Given the description of an element on the screen output the (x, y) to click on. 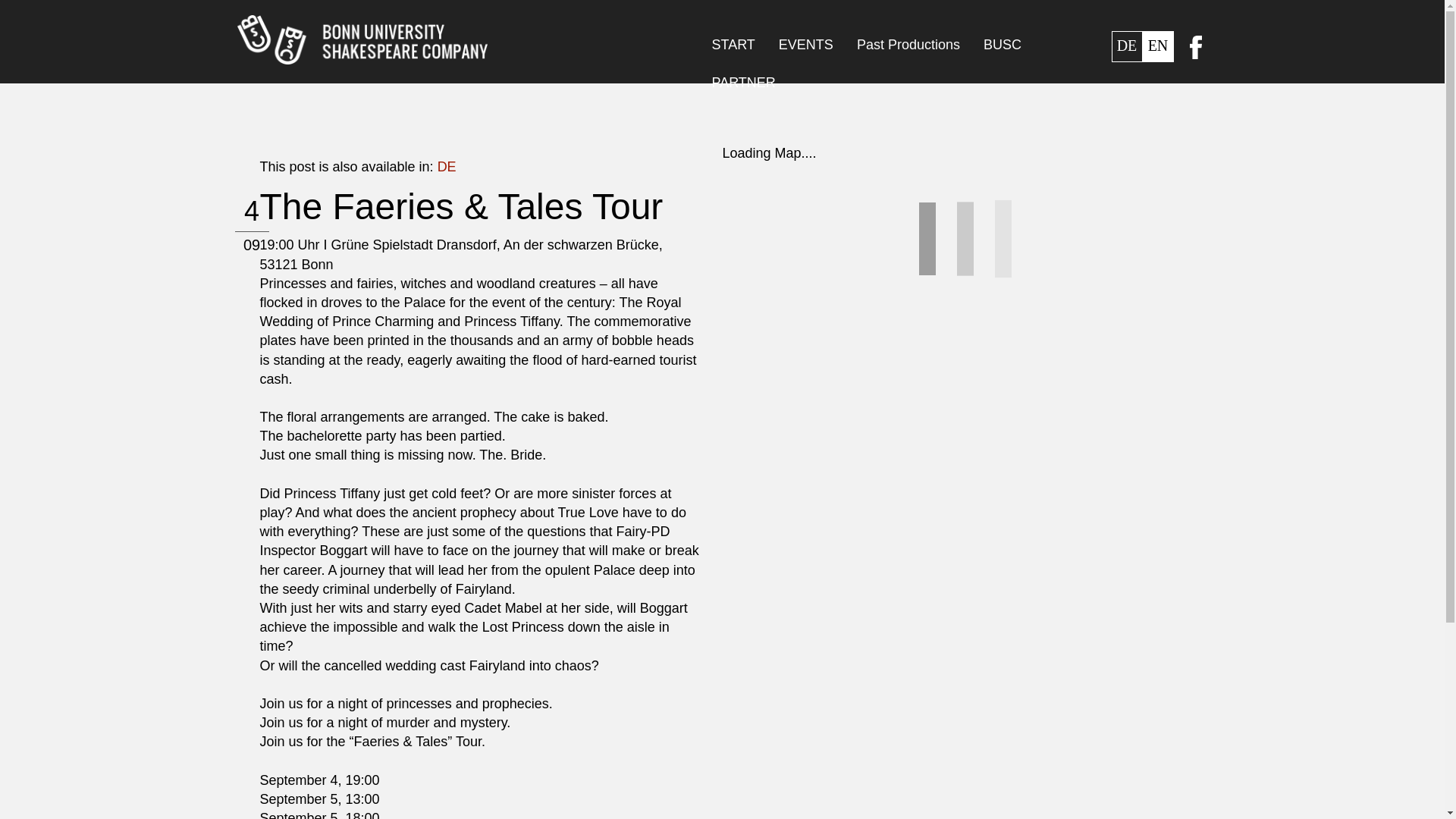
DE (1127, 46)
Past Productions (908, 48)
START (733, 48)
EVENTS (805, 48)
PARTNER (743, 86)
DE (447, 166)
EN (1157, 46)
BUSC (1002, 48)
